Given the description of an element on the screen output the (x, y) to click on. 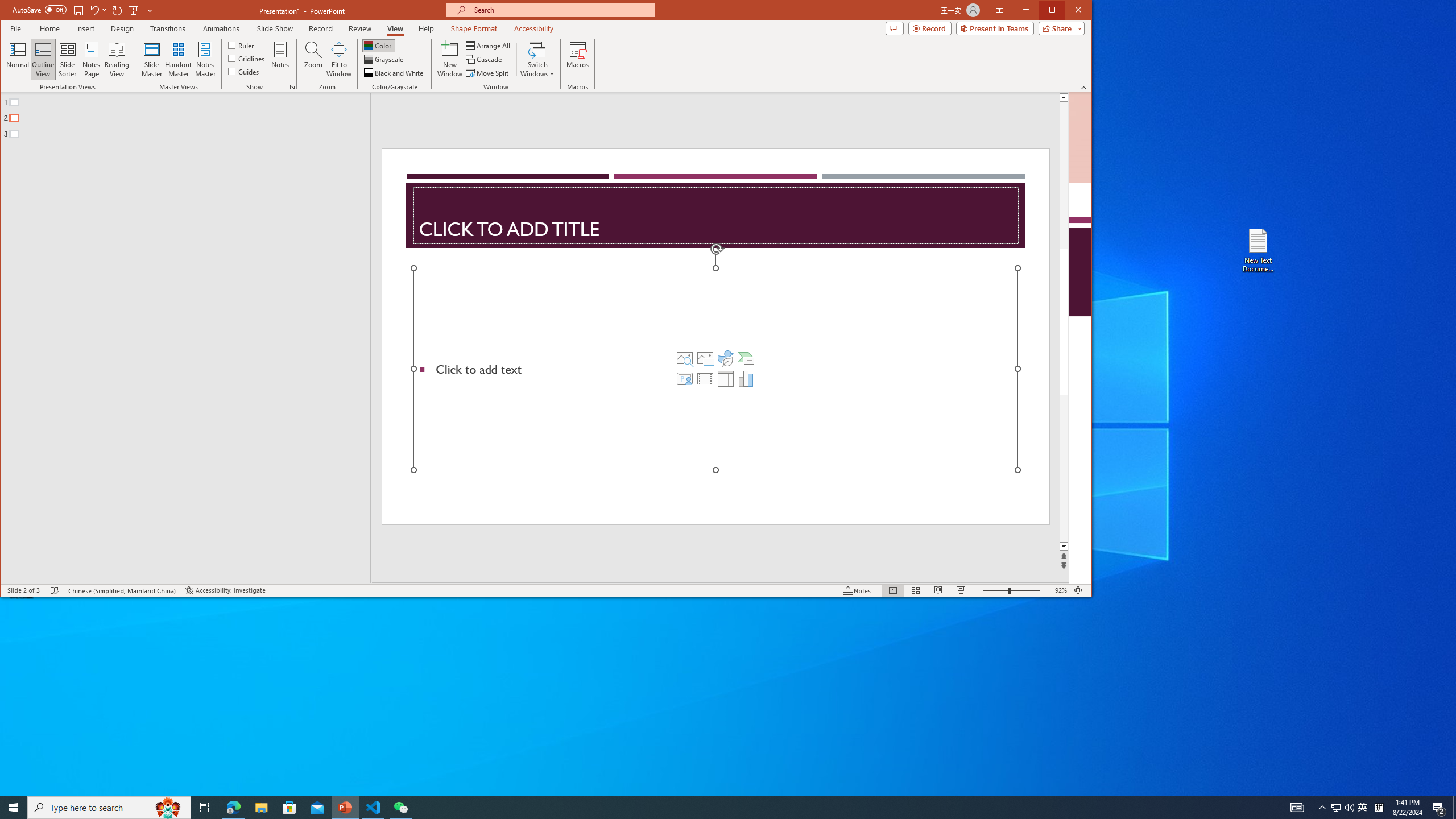
Zoom 92% (1060, 590)
Fit to Window (338, 59)
Ruler (241, 44)
Notes (279, 59)
